Given the description of an element on the screen output the (x, y) to click on. 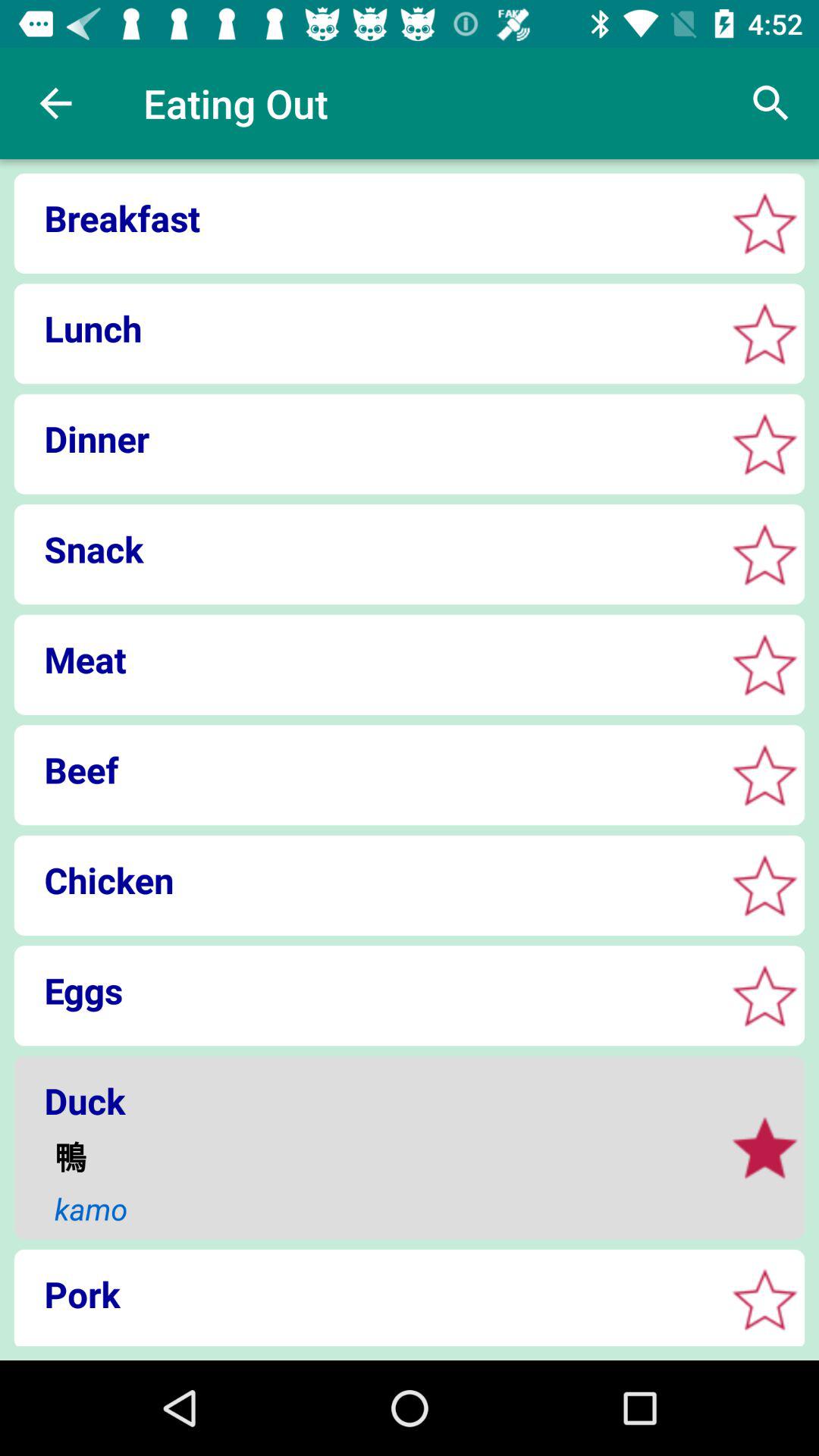
swipe until the kamo item (379, 1208)
